Given the description of an element on the screen output the (x, y) to click on. 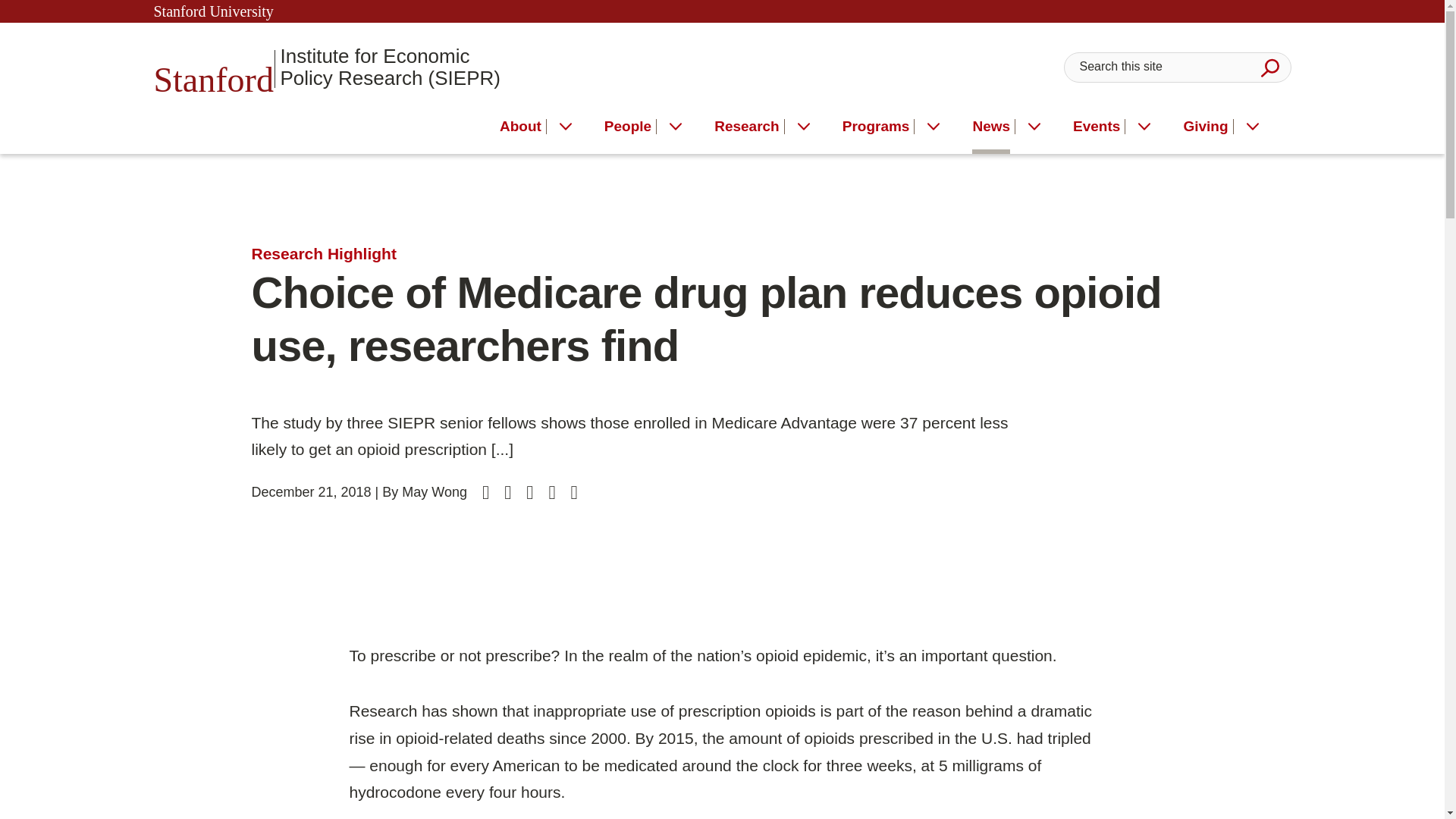
Submit Search (1269, 67)
People (627, 128)
